Given the description of an element on the screen output the (x, y) to click on. 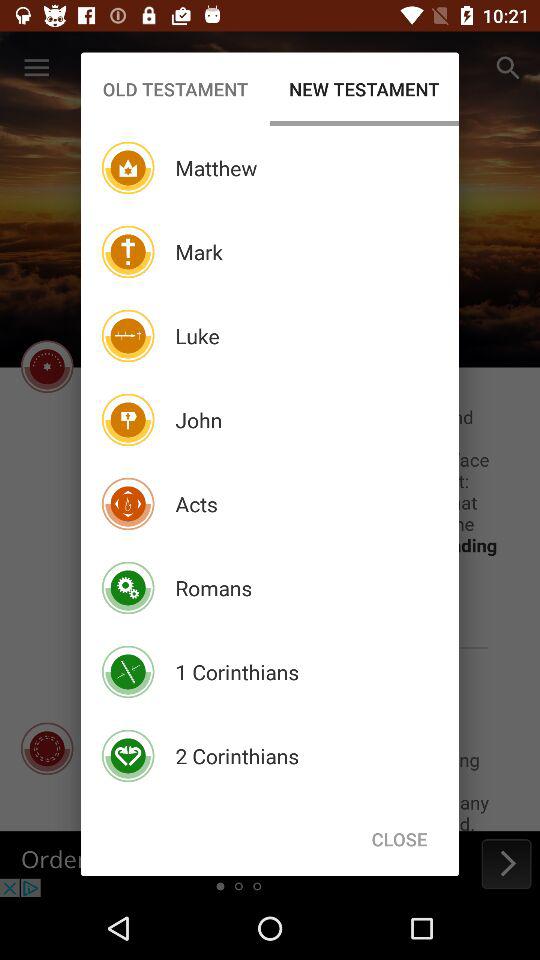
press the mark item (198, 251)
